Given the description of an element on the screen output the (x, y) to click on. 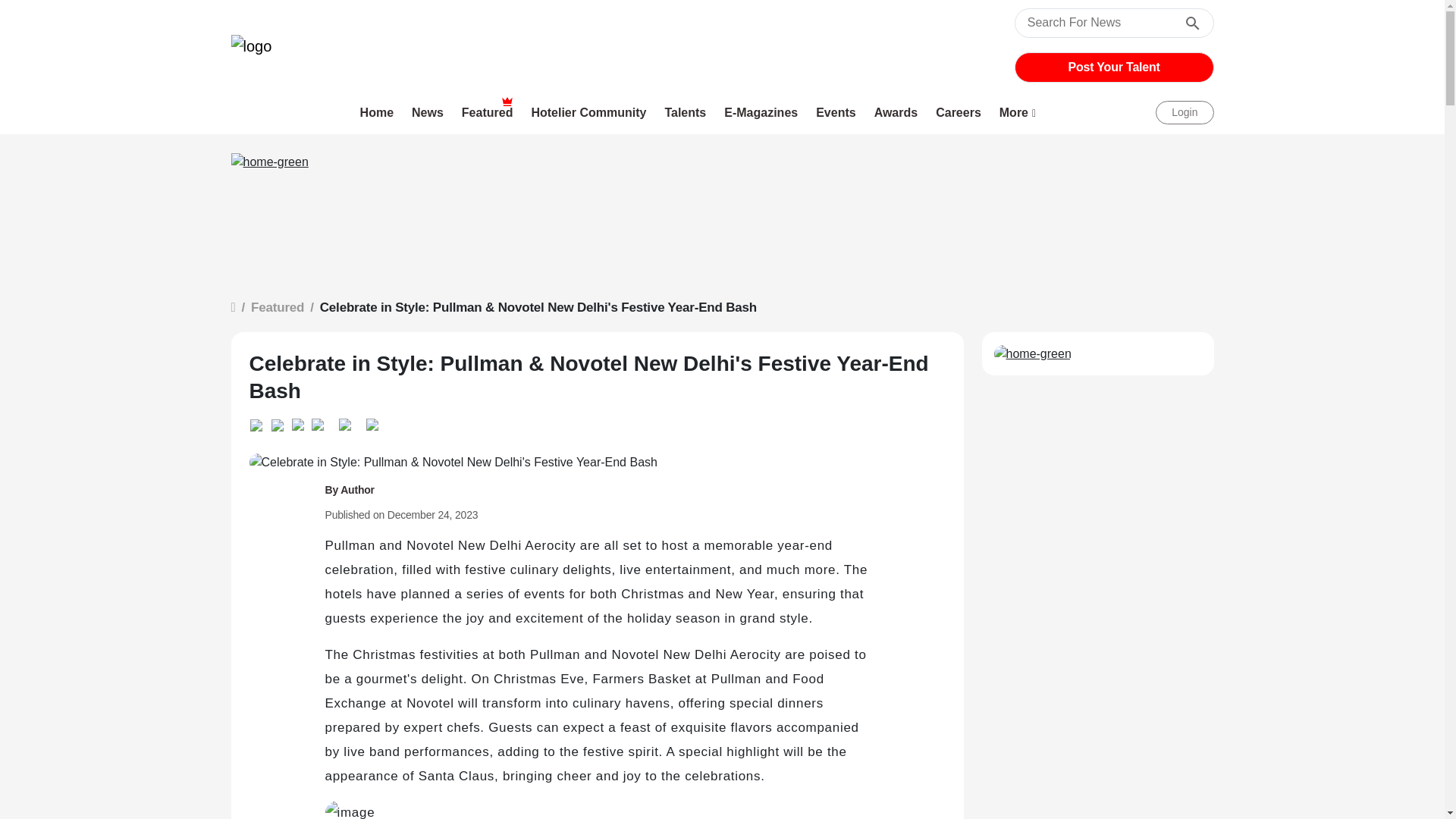
Post Your Talent (1114, 67)
Save (371, 422)
Linkedin (280, 422)
Copy (344, 422)
Home (378, 112)
Facebook (320, 422)
News (427, 112)
Twitter (301, 422)
Whatsapp (258, 422)
